Given the description of an element on the screen output the (x, y) to click on. 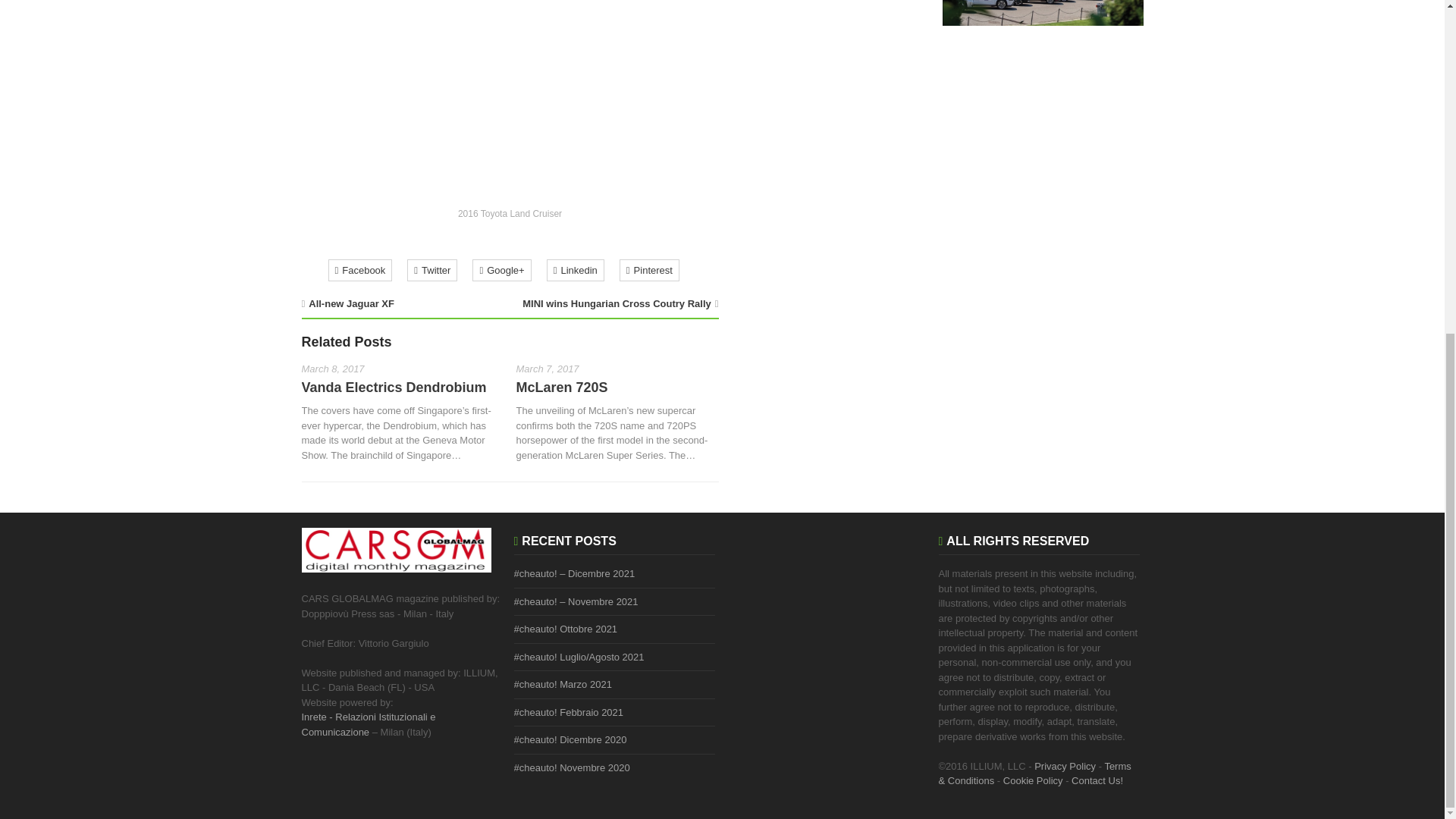
All-new Jaguar XF (351, 303)
Linkedin (574, 270)
Cars GM privacy (1032, 780)
Inrete - Relazioni Istituzionali e Comunicazione (368, 724)
Vanda Electrics Dendrobium (393, 387)
McLaren 720S (561, 387)
Cars GM privacy (1064, 766)
Cars GM privacy (1035, 773)
Facebook (359, 270)
Twitter (431, 270)
Pinterest (649, 270)
MINI wins Hungarian Cross Coutry Rally (616, 303)
